Given the description of an element on the screen output the (x, y) to click on. 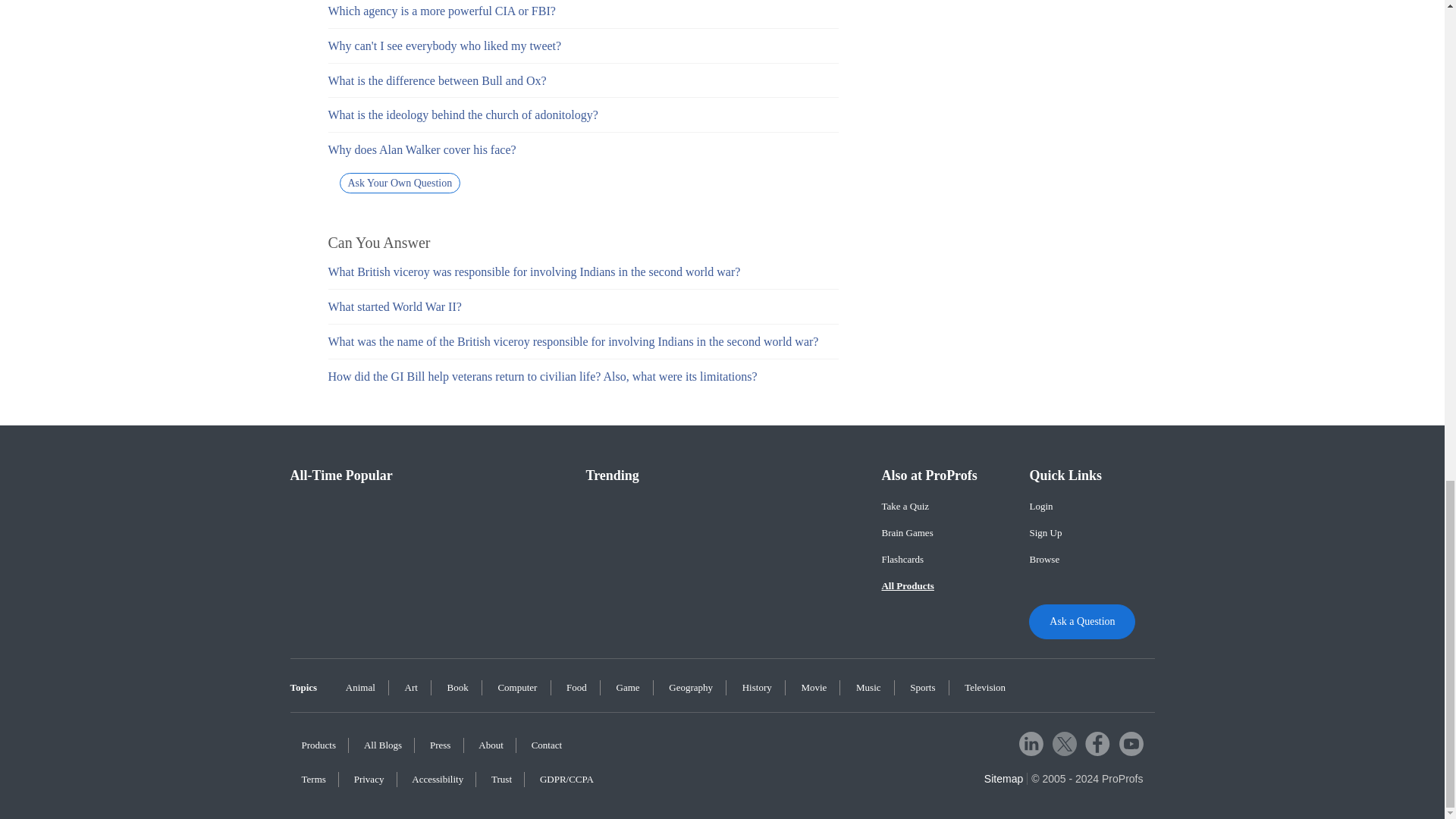
Follow us on linkedIn (1031, 743)
Follow us on Youtube (1130, 743)
Follow us on facebook (1096, 743)
